Given the description of an element on the screen output the (x, y) to click on. 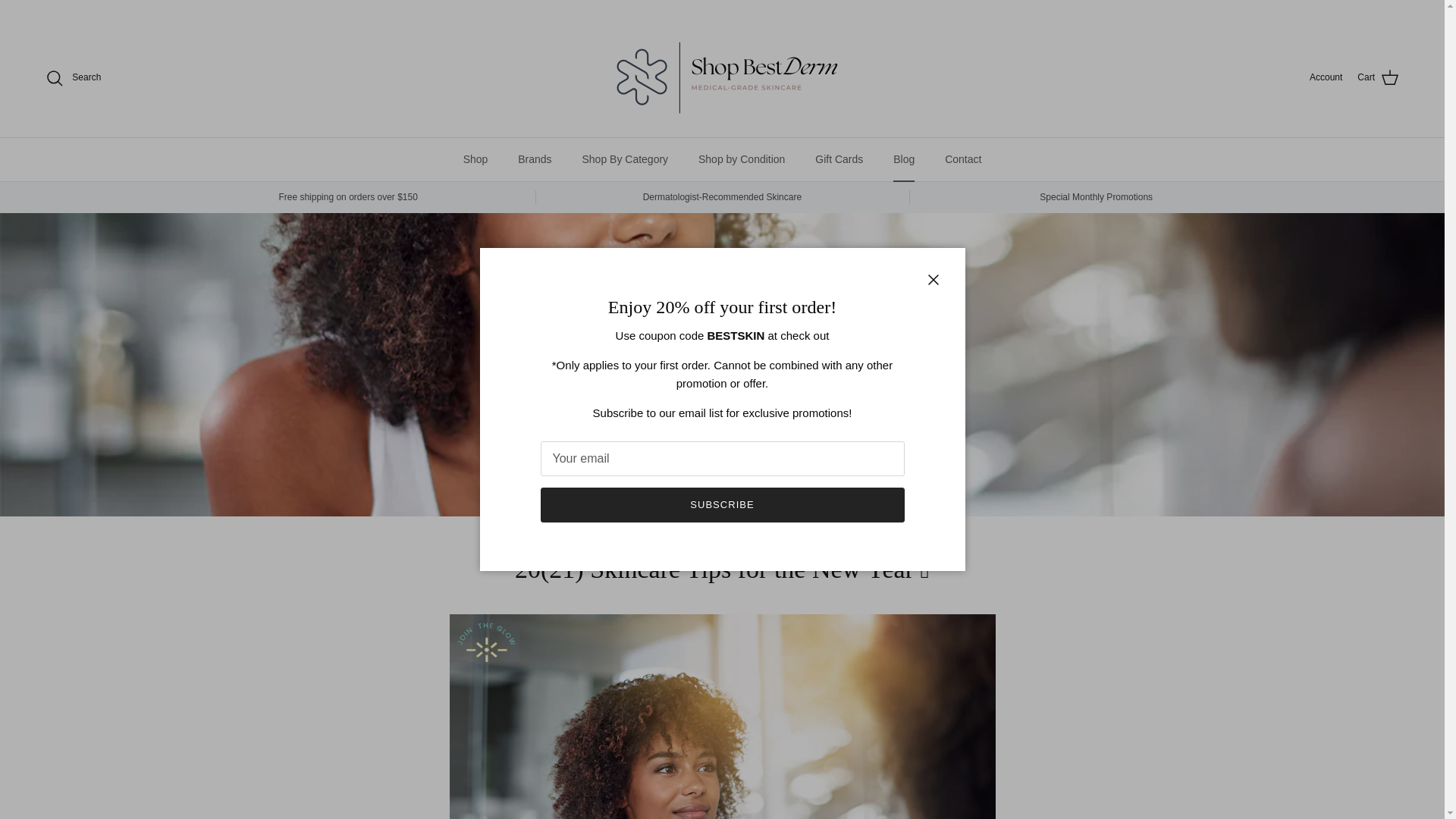
Cart (1377, 77)
Search (72, 76)
Shop By Category (624, 159)
Account (1325, 77)
Shop by Condition (740, 159)
Shop (475, 159)
Shop BestDerm (721, 77)
Brands (533, 159)
